Given the description of an element on the screen output the (x, y) to click on. 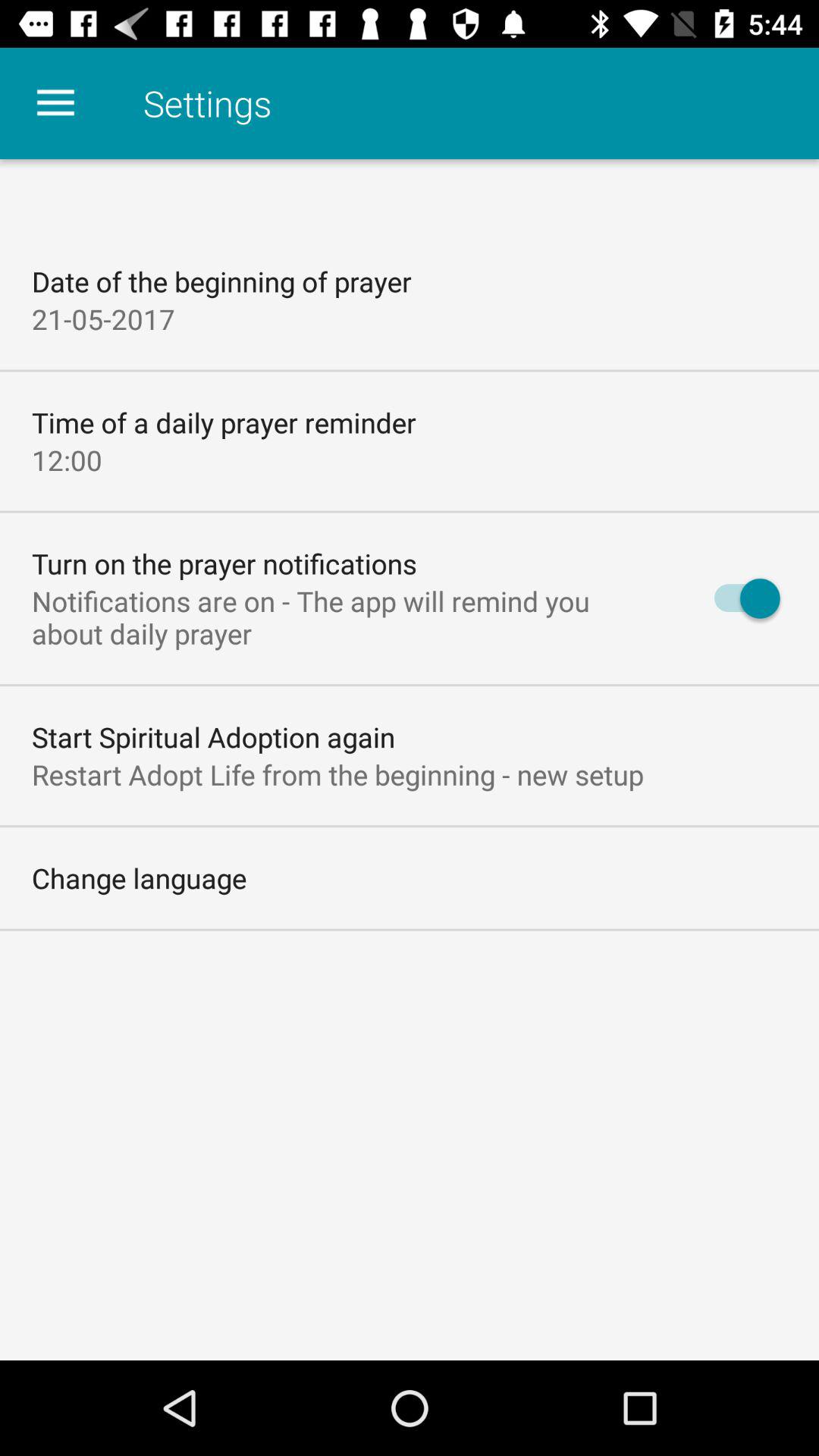
click the icon to the left of settings item (55, 103)
